Given the description of an element on the screen output the (x, y) to click on. 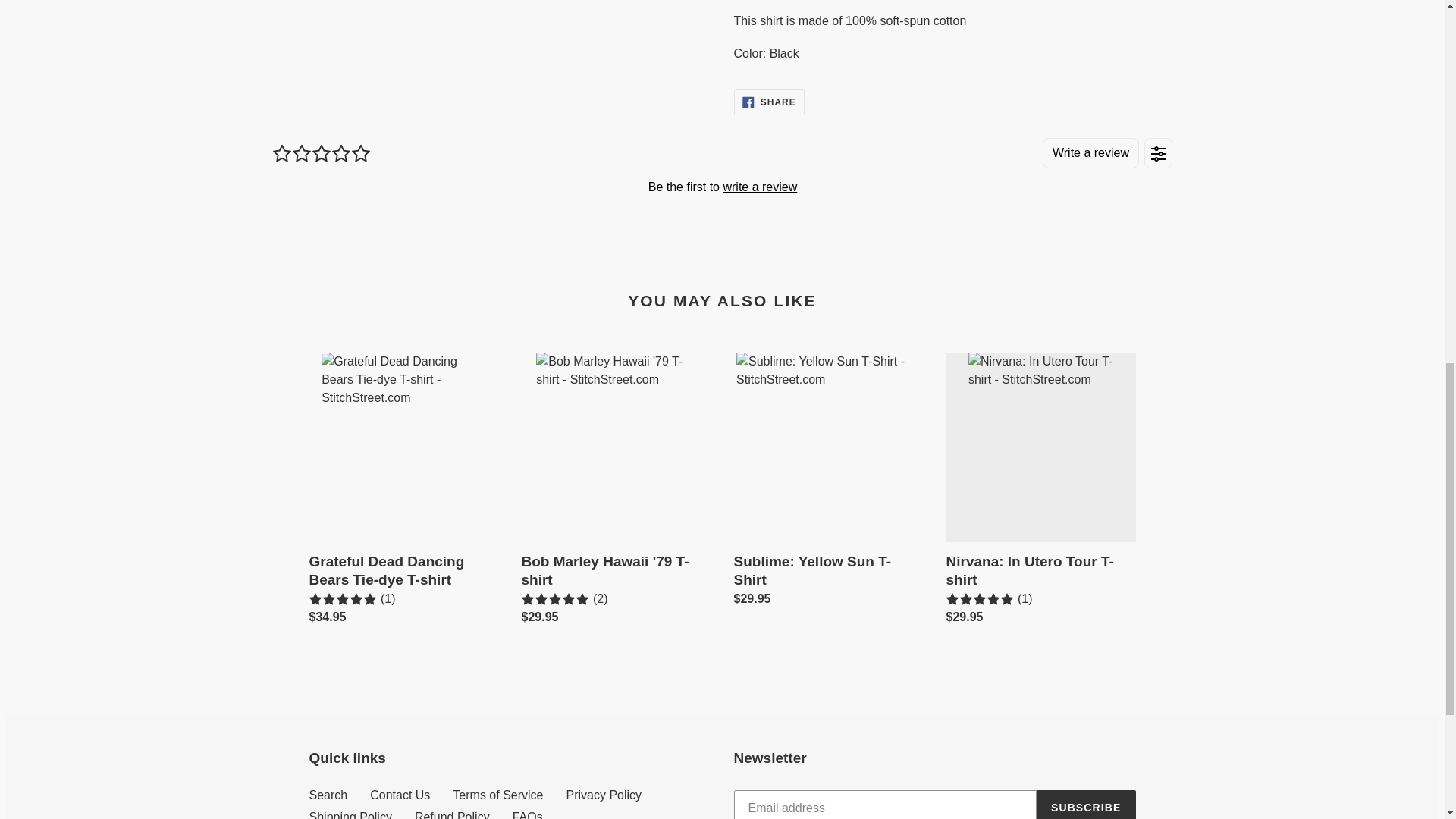
Contact Us (399, 794)
Privacy Policy (604, 794)
Search (327, 794)
Terms of Service (497, 794)
Product reviews widget (721, 185)
